Given the description of an element on the screen output the (x, y) to click on. 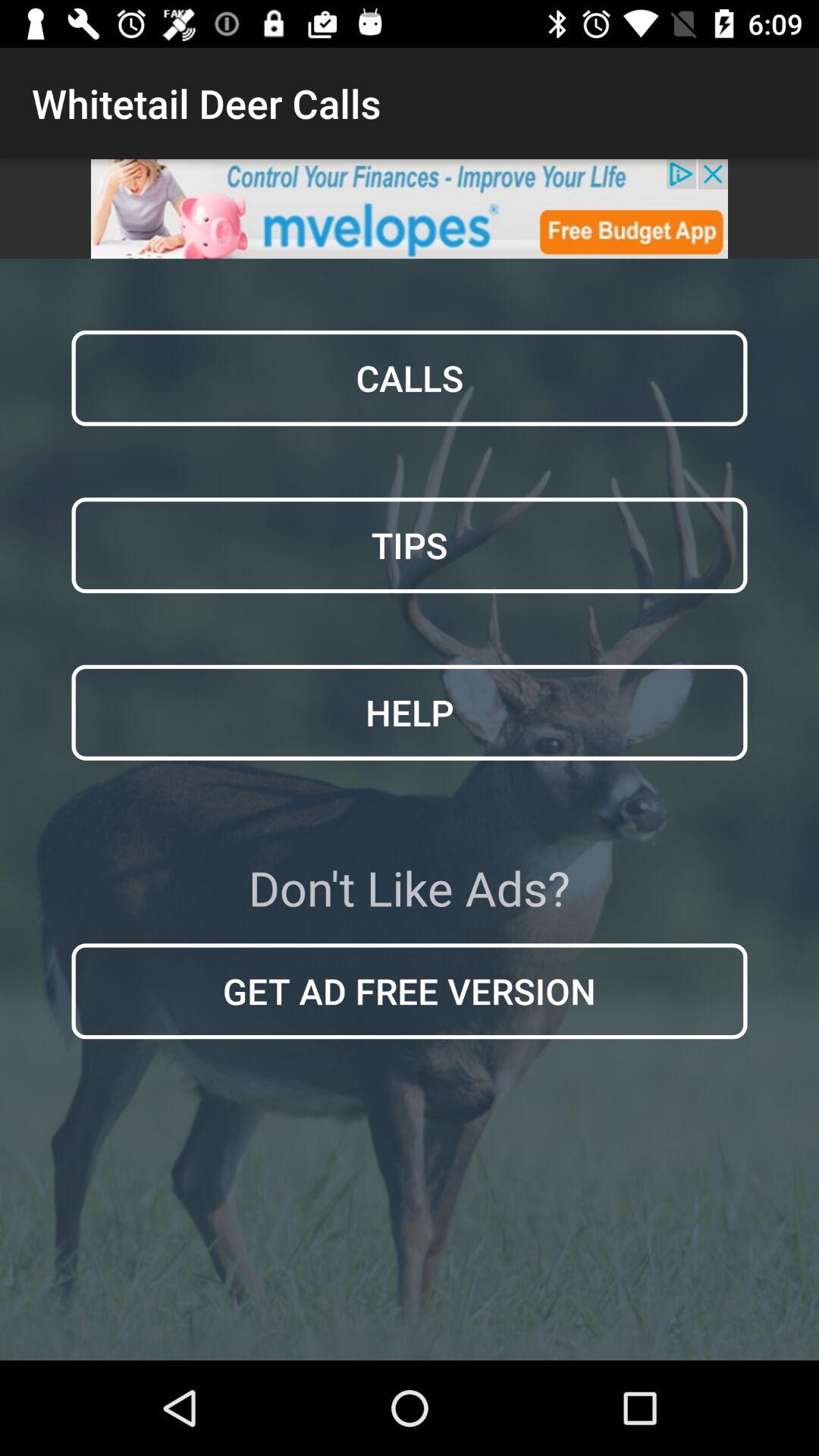
click advertisement (409, 208)
